Given the description of an element on the screen output the (x, y) to click on. 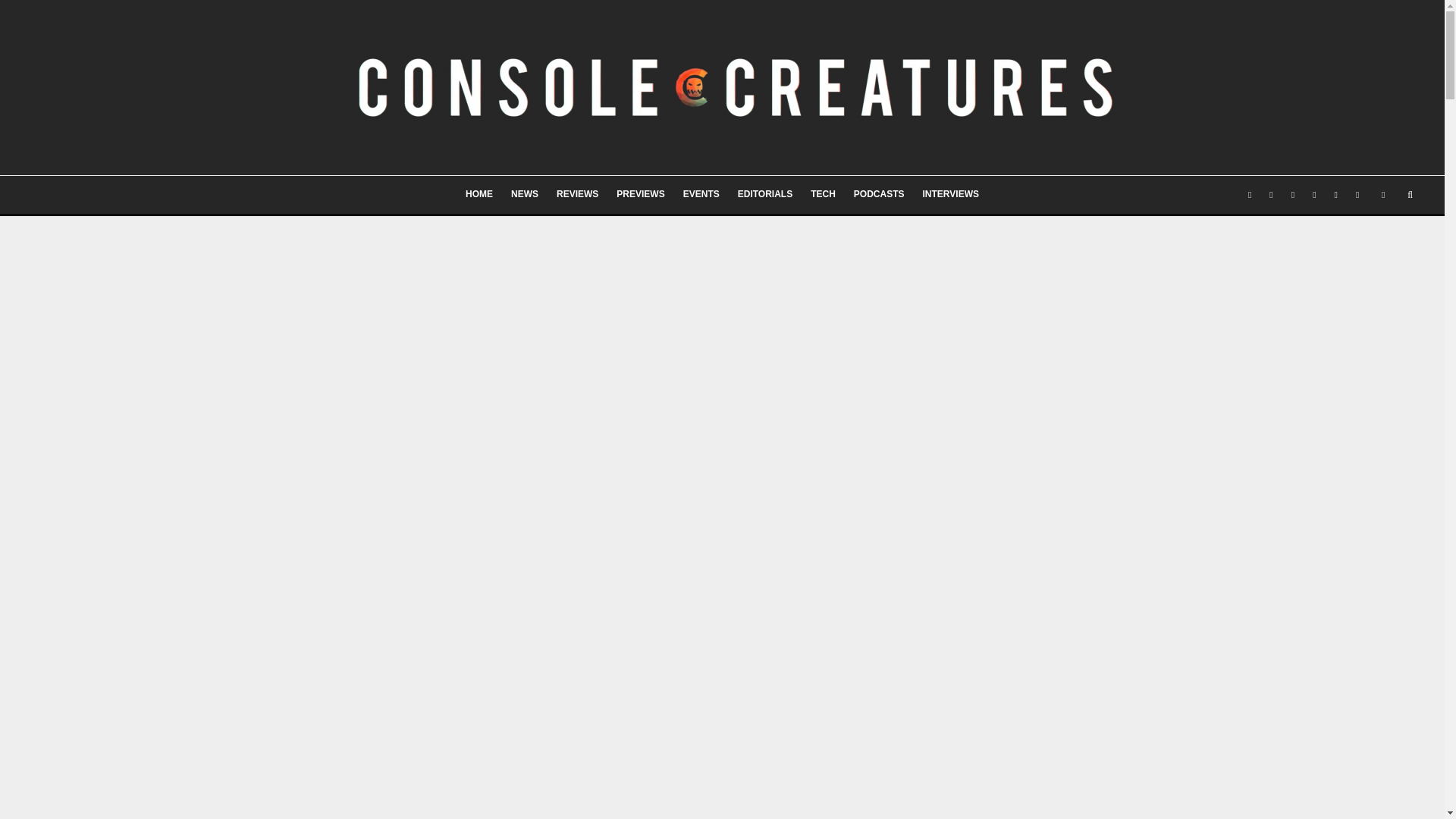
EVENTS (701, 194)
PREVIEWS (639, 194)
HOME (479, 194)
NEWS (524, 194)
REVIEWS (577, 194)
